Given the description of an element on the screen output the (x, y) to click on. 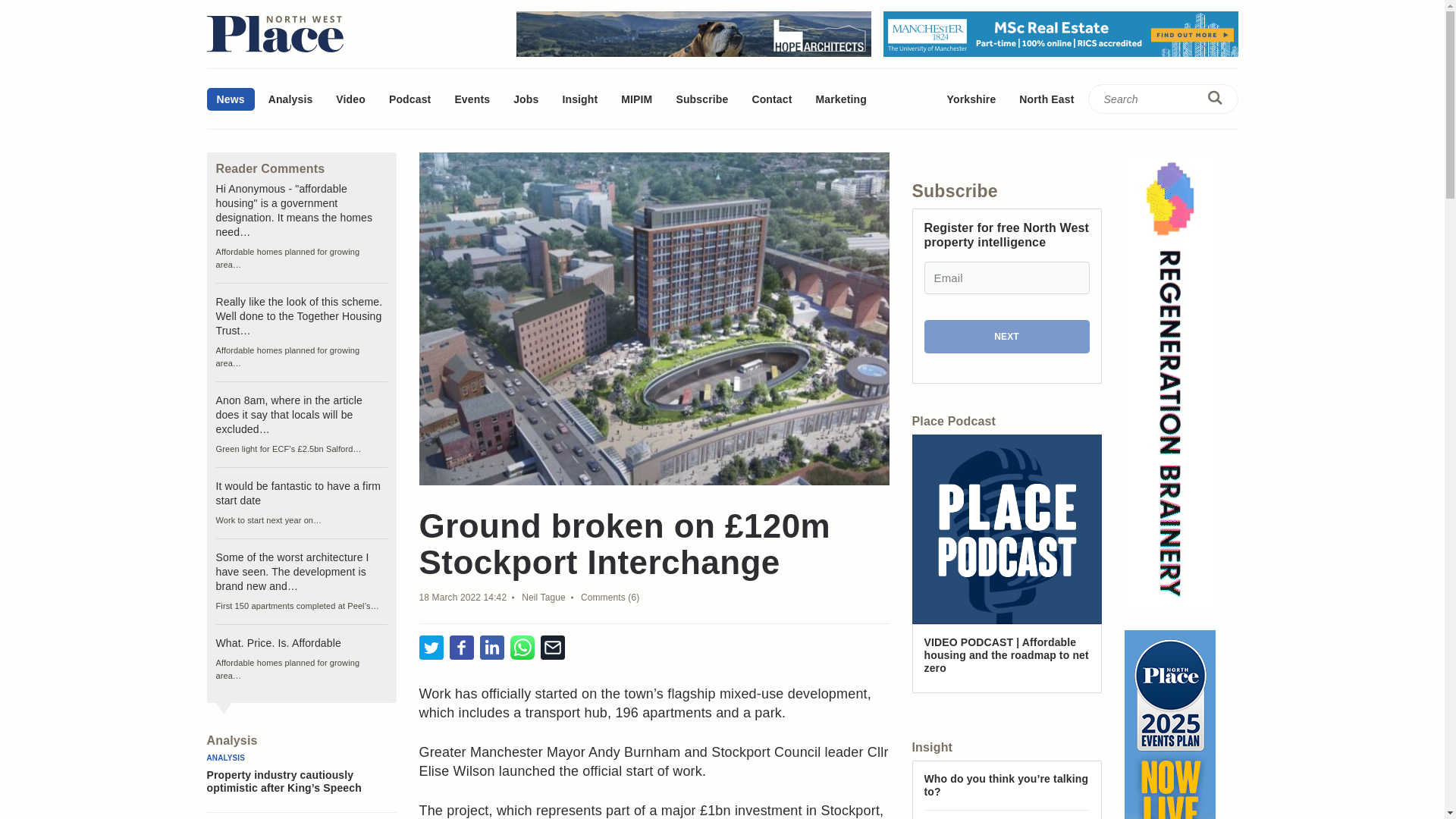
Podcast (409, 98)
News (229, 98)
MIPIM (636, 98)
Events (471, 98)
Share on Facebook (460, 648)
North East (1046, 98)
Share on WhatsApp (521, 648)
Yorkshire (971, 98)
Video (350, 98)
Insight (579, 98)
Next (1006, 336)
Analysis (291, 98)
Subscribe (701, 98)
Share on Twiiter (430, 648)
Share by Email (552, 648)
